Given the description of an element on the screen output the (x, y) to click on. 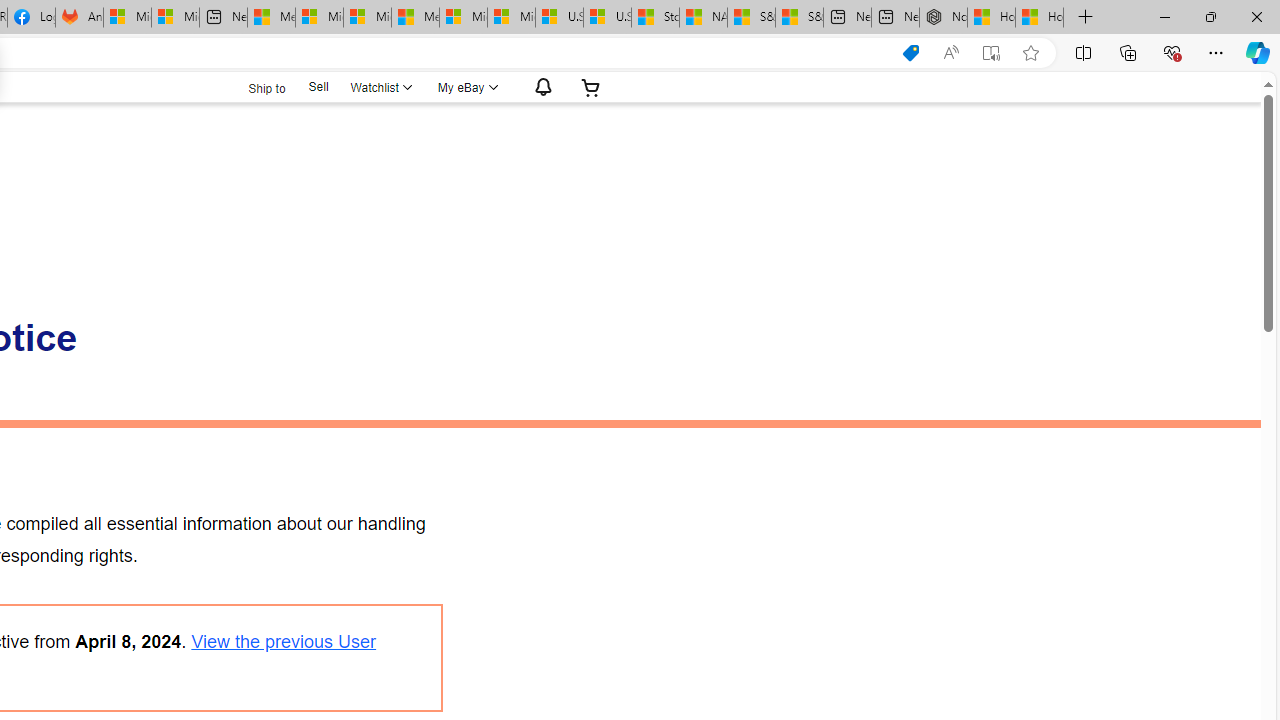
My eBay (466, 87)
Sell (318, 87)
Expand Cart (591, 87)
WatchlistExpand Watch List (380, 87)
AutomationID: gh-eb-Alerts (540, 87)
Microsoft account | Home (367, 17)
Watchlist (380, 87)
